Given the description of an element on the screen output the (x, y) to click on. 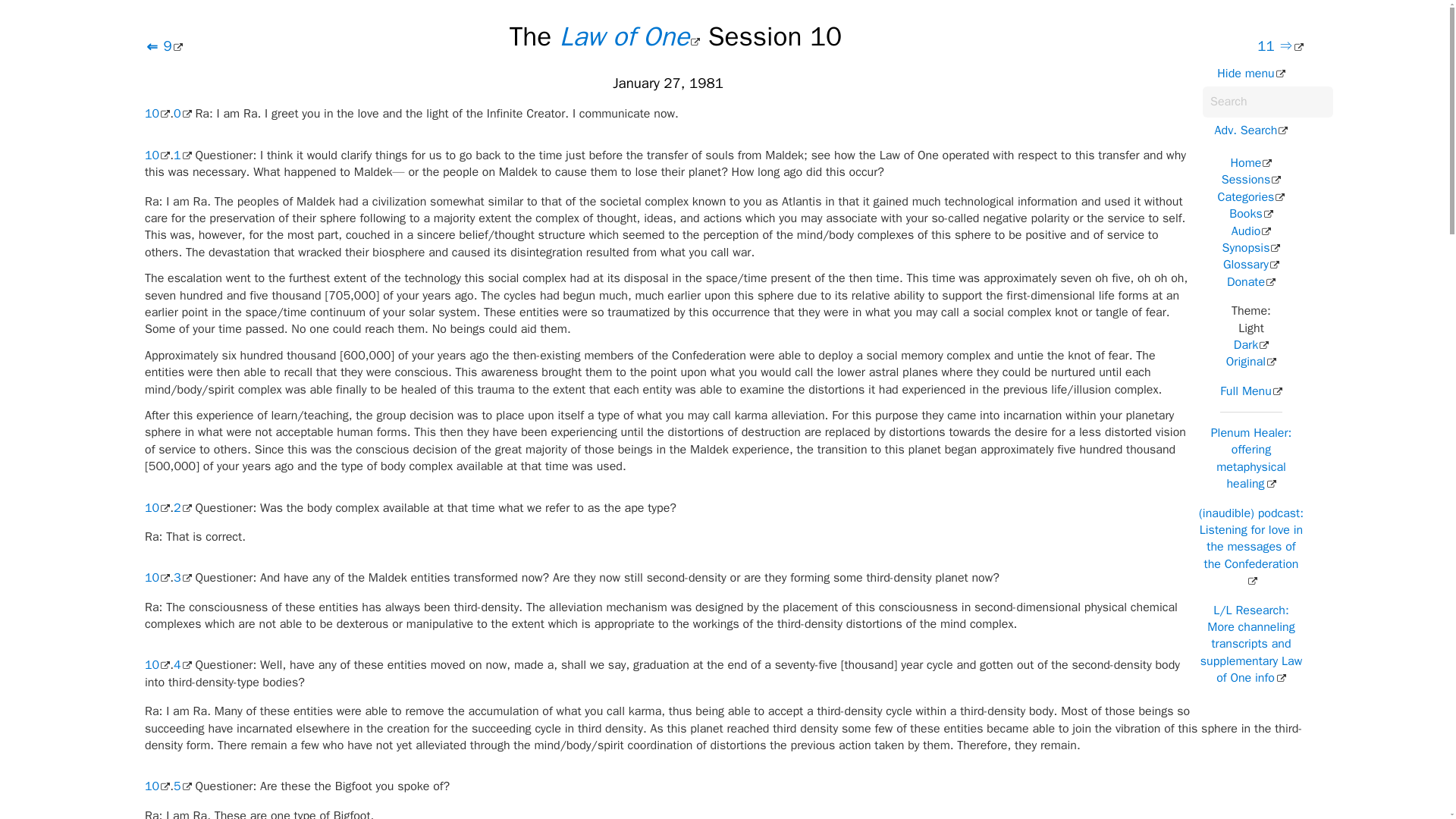
2 (182, 507)
5 (182, 785)
10 (157, 155)
10 (157, 113)
10 (157, 785)
3 (182, 577)
4 (182, 664)
0 (182, 113)
1 (182, 155)
10 (157, 664)
Law of One (629, 36)
10 (157, 507)
10 (157, 577)
